Given the description of an element on the screen output the (x, y) to click on. 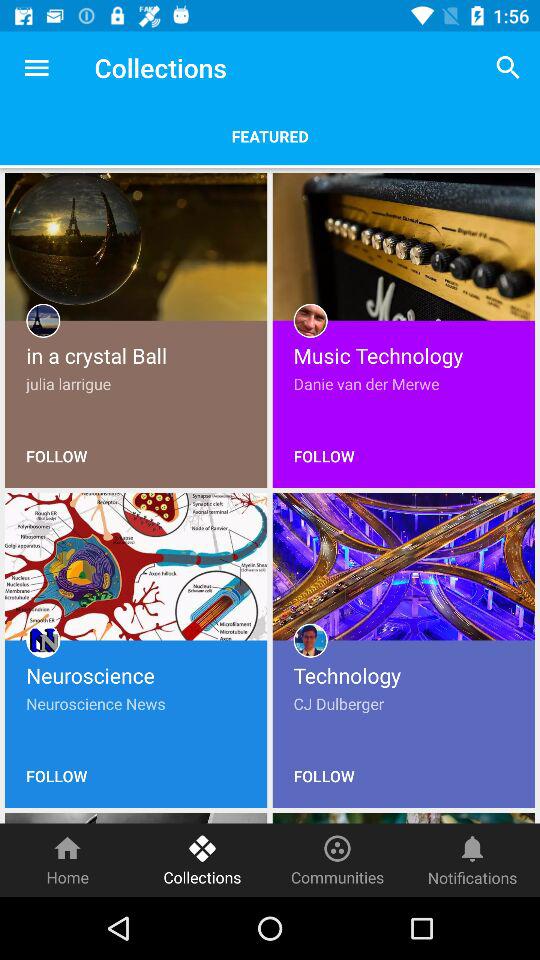
turn off the icon to the right of the collections icon (508, 67)
